Given the description of an element on the screen output the (x, y) to click on. 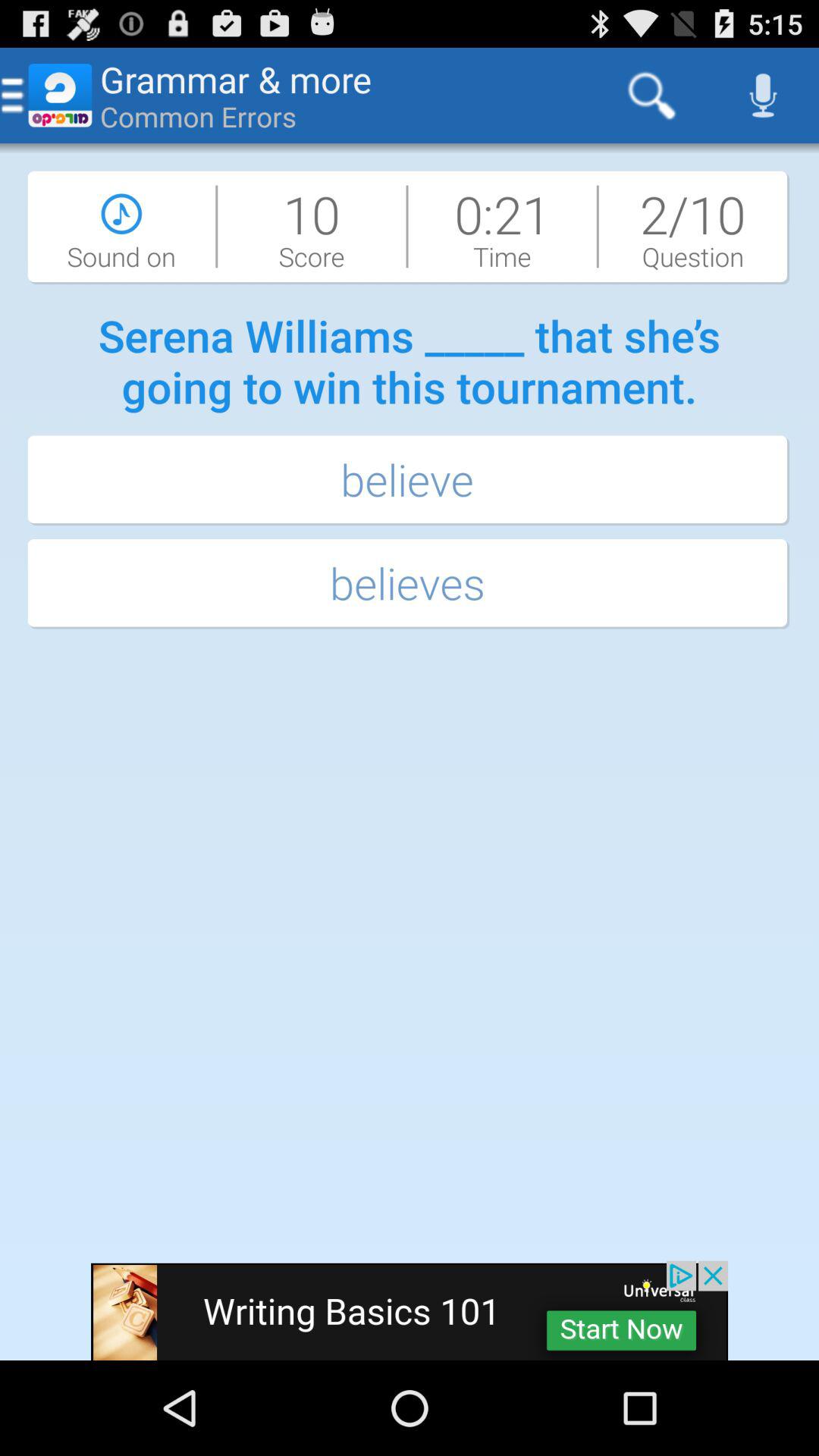
open advertisement (409, 1310)
